Given the description of an element on the screen output the (x, y) to click on. 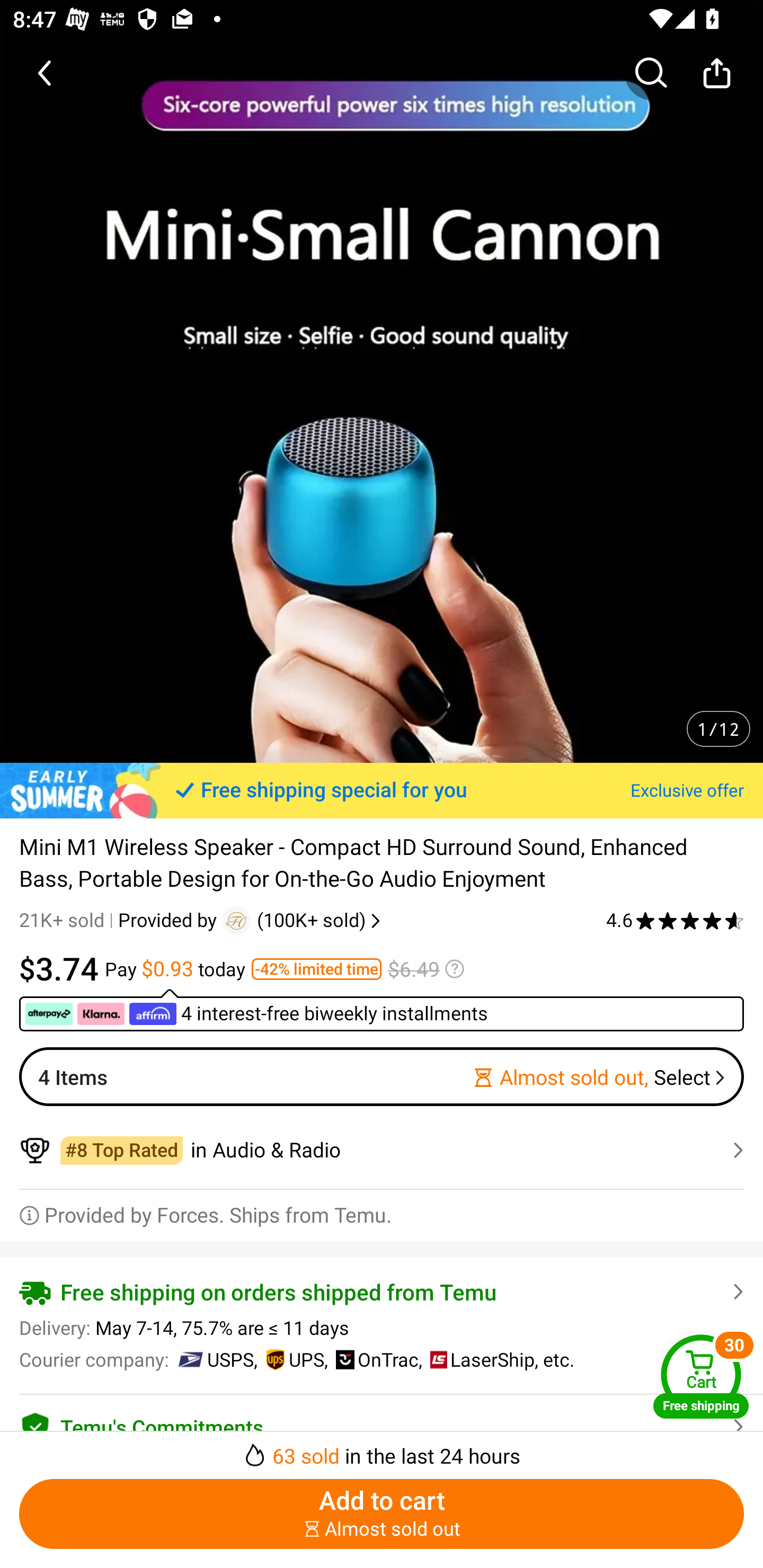
Back (46, 72)
Share (716, 72)
Free shipping special for you Exclusive offer (381, 790)
21K+ sold Provided by  (120, 920)
4.6 (674, 920)
￼ ￼ ￼ 4 interest-free biweekly installments (381, 1009)
4 Items   Almost sold out, Select (381, 1076)
￼￼in Audio & Radio (381, 1149)
Cart Free shipping Cart (701, 1375)
￼￼63 sold in the last 24 hours (381, 1450)
Add to cart ￼￼Almost sold out (381, 1513)
